Given the description of an element on the screen output the (x, y) to click on. 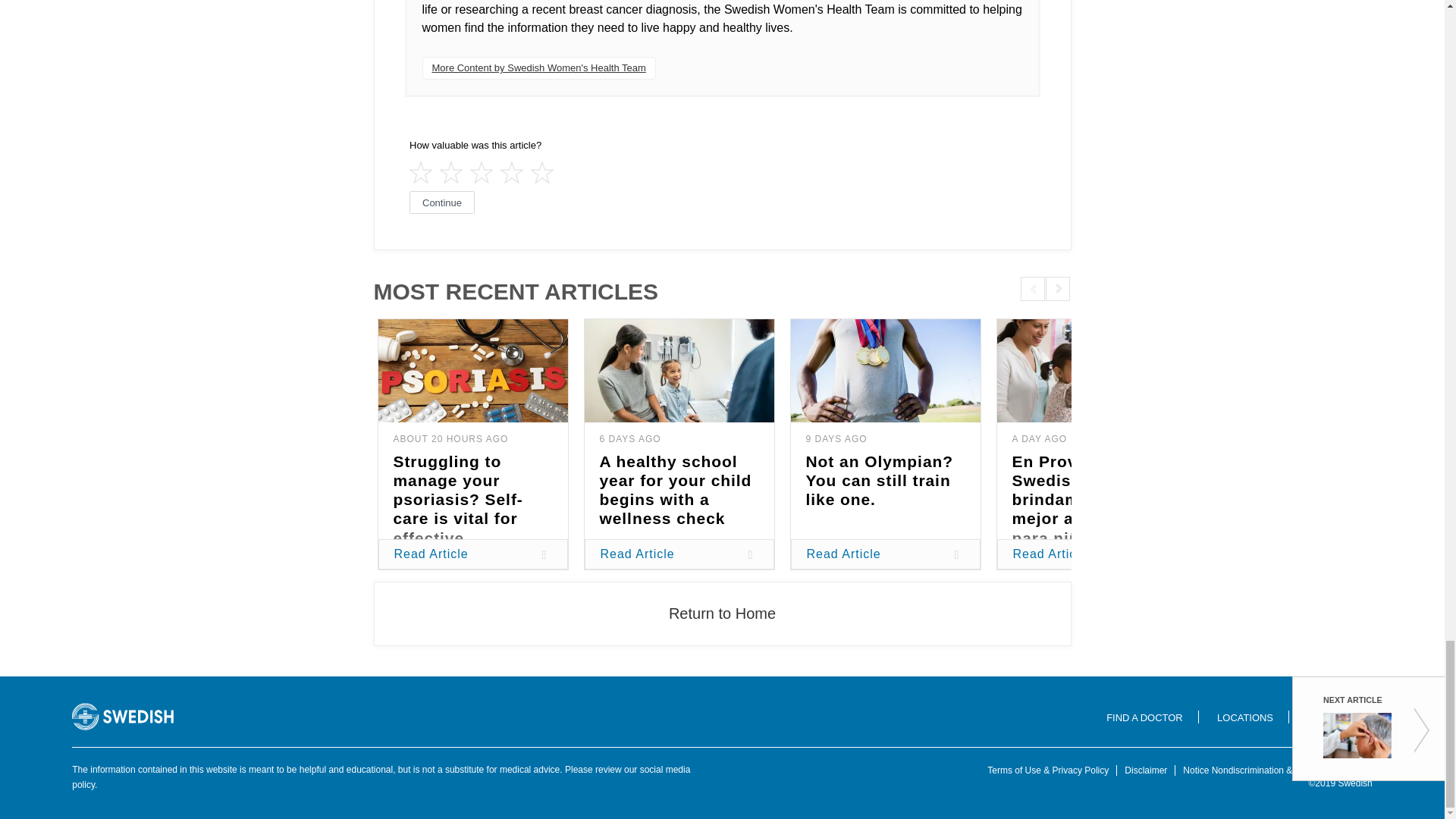
2024-08-09T11:51:00 (629, 439)
2024-08-06T18:31:48 (835, 439)
2024-08-13T14:32:16 (1039, 439)
2024-08-14T12:40:52 (450, 439)
